Given the description of an element on the screen output the (x, y) to click on. 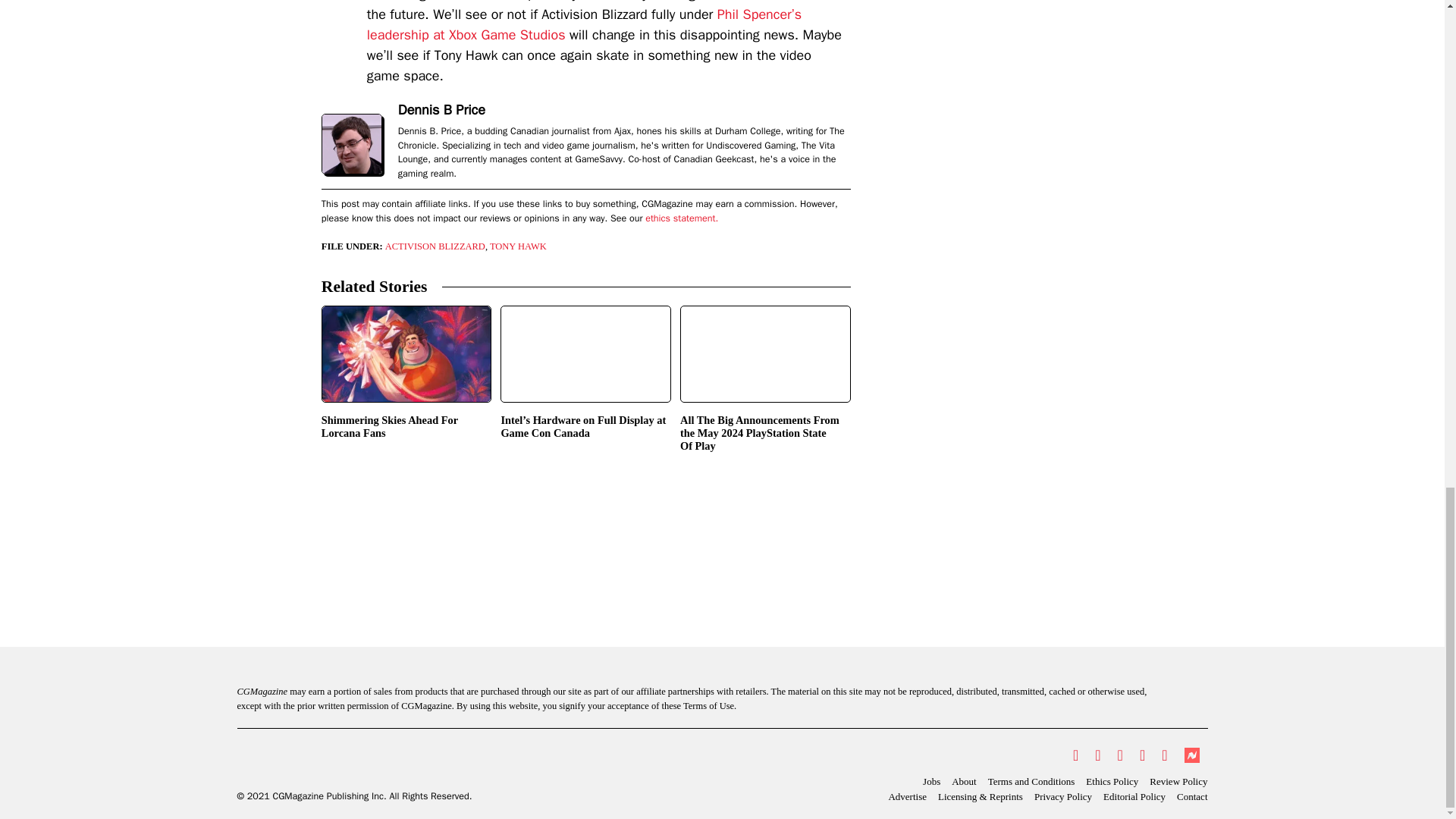
Instagram Profile (1120, 754)
Twitter Profile (1075, 754)
Facebook Page (1097, 754)
Flipboard Page (1163, 754)
NewsBreak (1190, 754)
CGMagazine (353, 762)
Dennis B Price (440, 109)
YouTube Page (1142, 754)
